Given the description of an element on the screen output the (x, y) to click on. 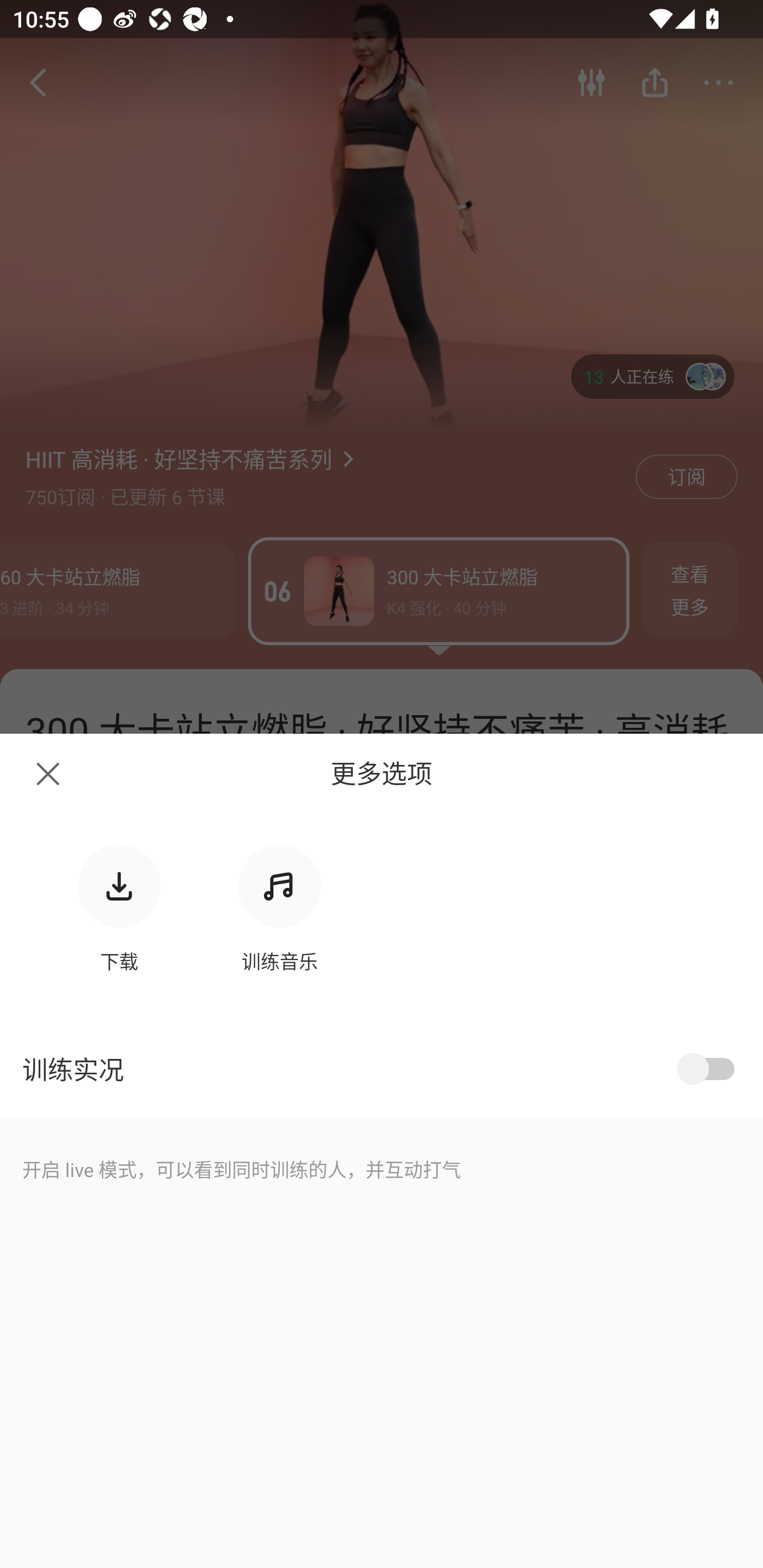
OFF (708, 1069)
